Given the description of an element on the screen output the (x, y) to click on. 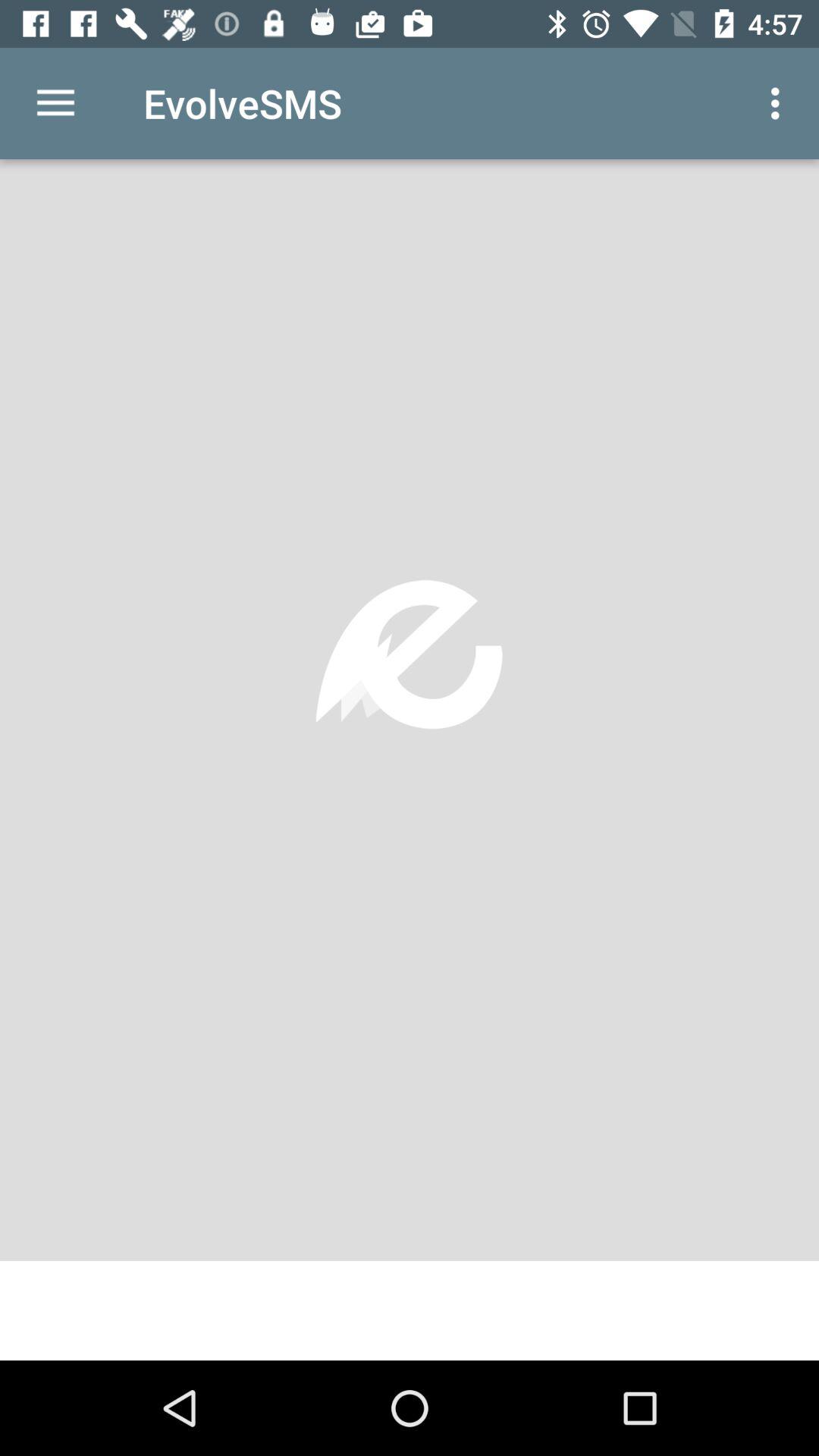
select the icon to the left of evolvesms icon (55, 103)
